Given the description of an element on the screen output the (x, y) to click on. 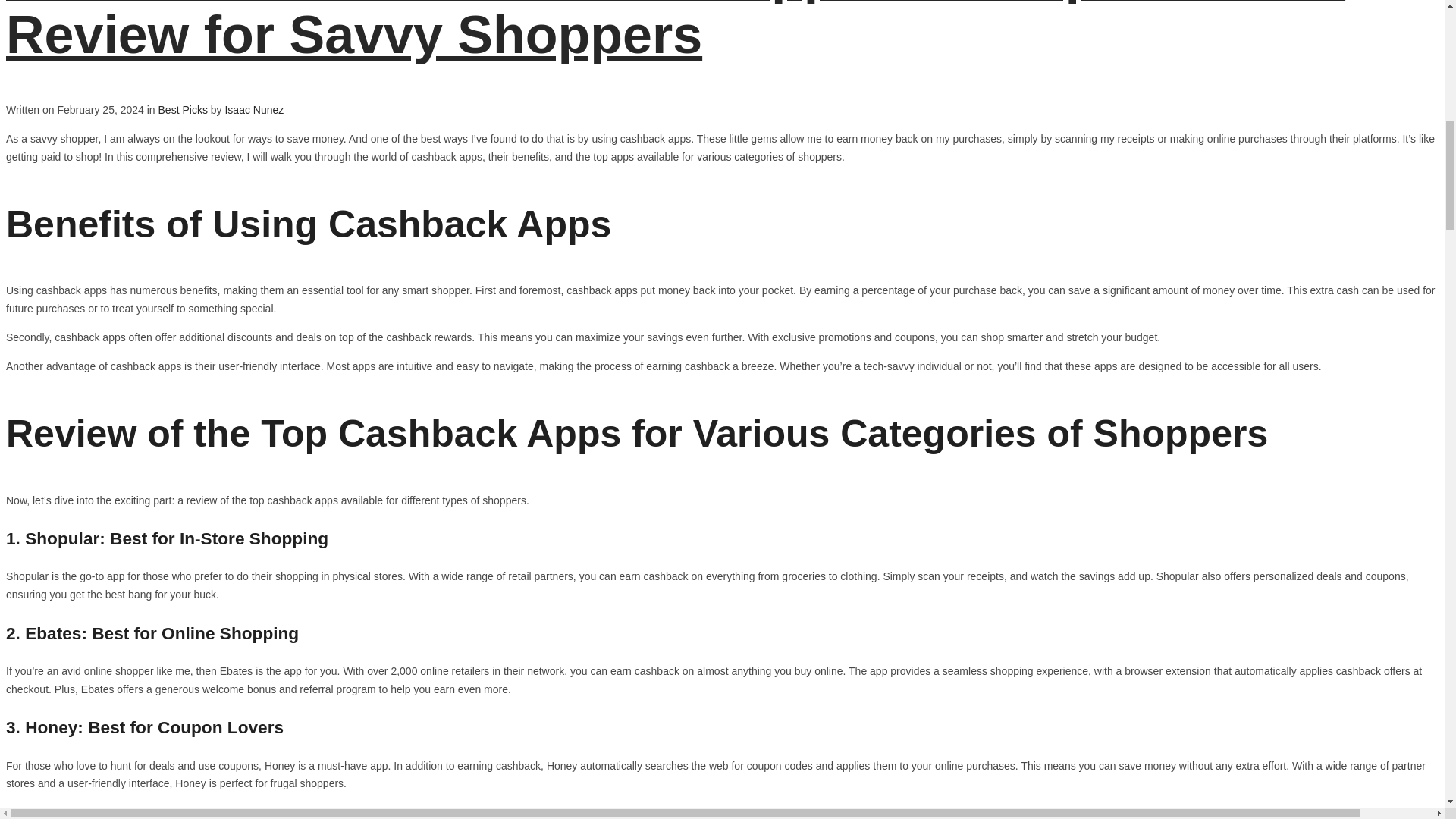
Isaac Nunez (253, 110)
Best Picks (183, 110)
